Given the description of an element on the screen output the (x, y) to click on. 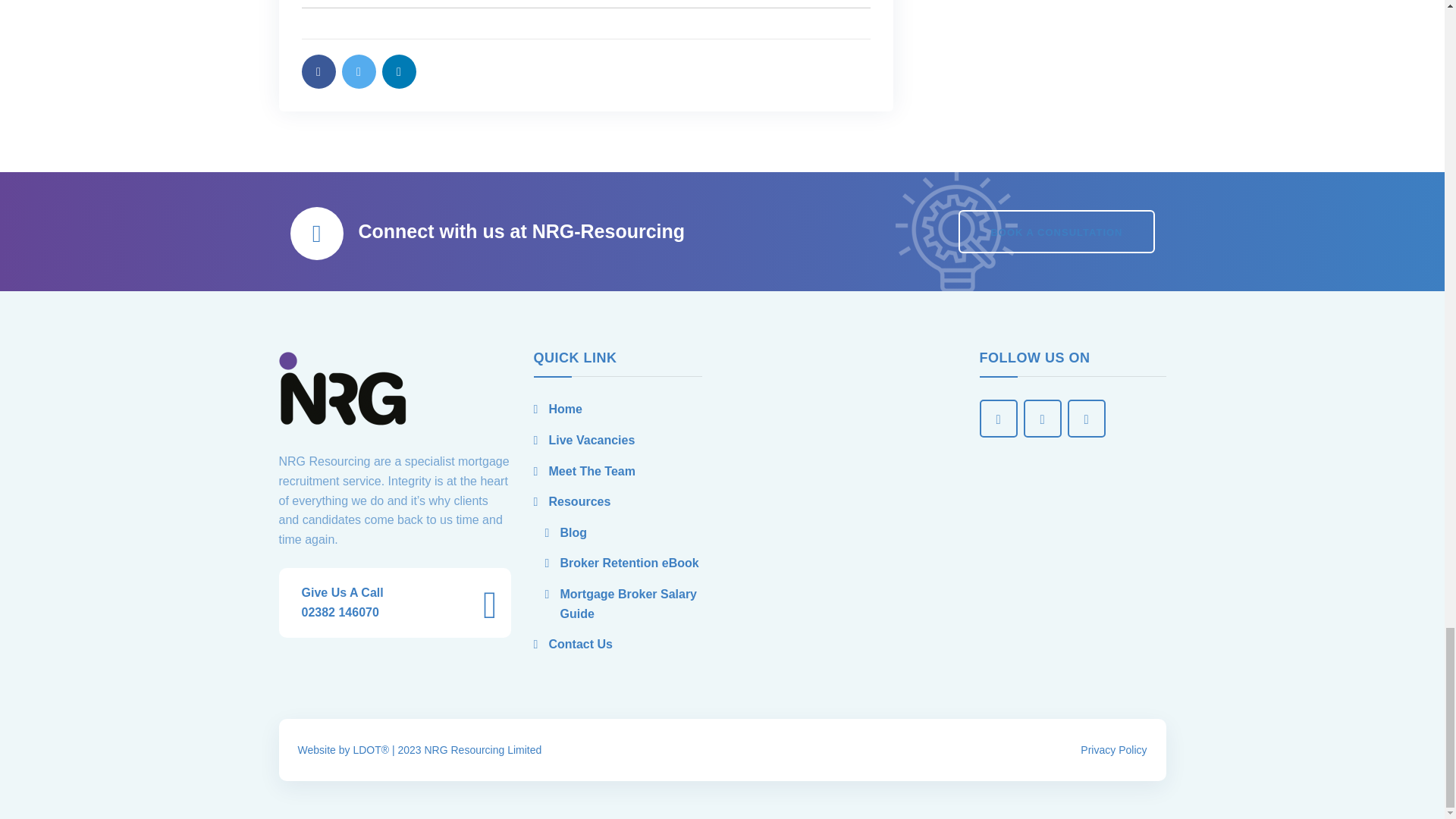
Share on Twitter (357, 71)
Share on LinkedIn (398, 71)
Share on Facebook (318, 71)
